Given the description of an element on the screen output the (x, y) to click on. 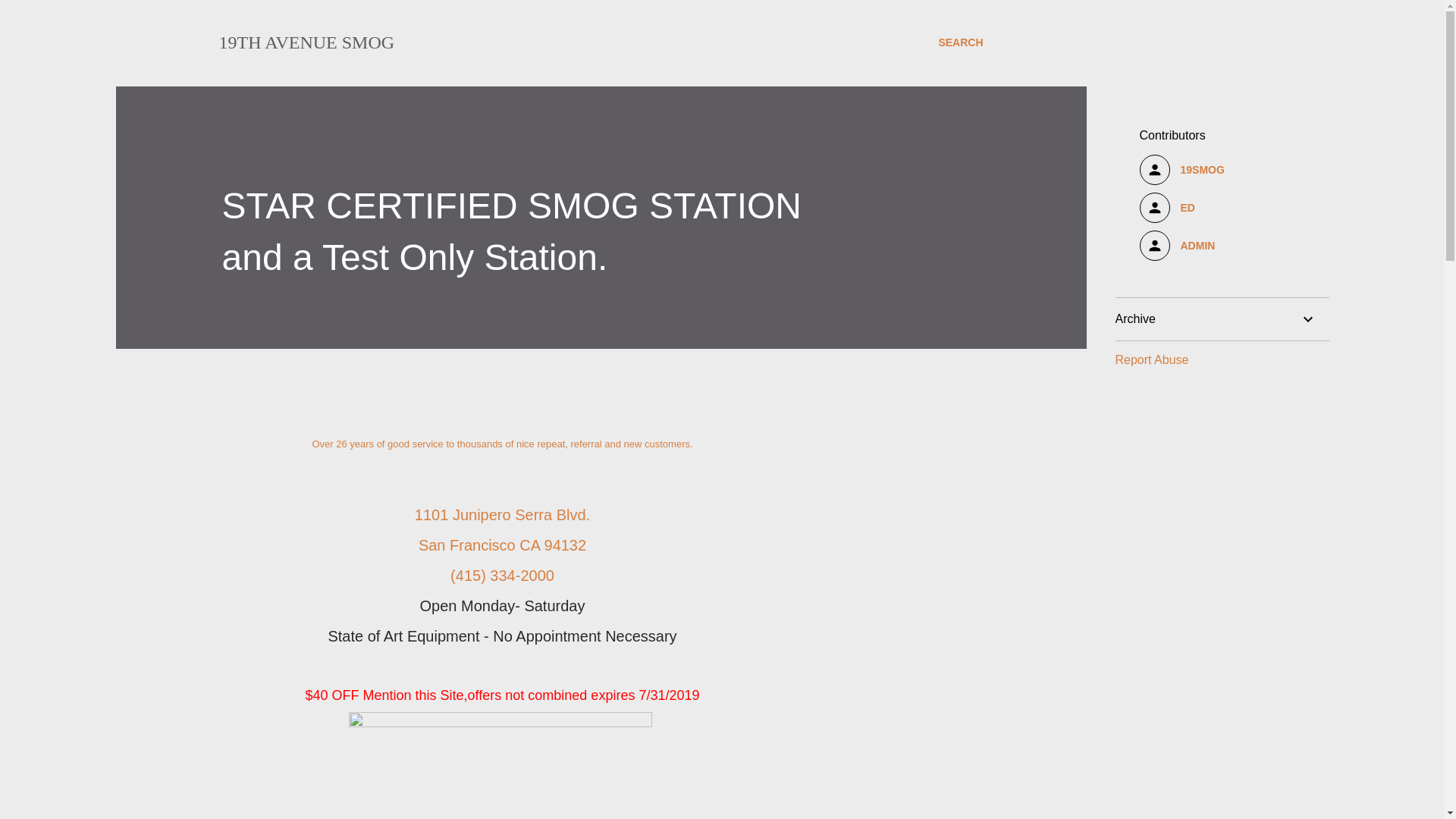
SEARCH Element type: text (960, 42)
  Element type: text (501, 722)
1101 Junipero Serra Blvd. Element type: text (501, 514)
ED Element type: text (1221, 207)
ADMIN Element type: text (1221, 245)
19SMOG Element type: text (1221, 169)
(415) 334-2000 Element type: text (502, 575)
Report Abuse Element type: text (1151, 359)
San Francisco CA 94132 Element type: text (502, 544)
19TH AVENUE SMOG Element type: text (306, 42)
